Given the description of an element on the screen output the (x, y) to click on. 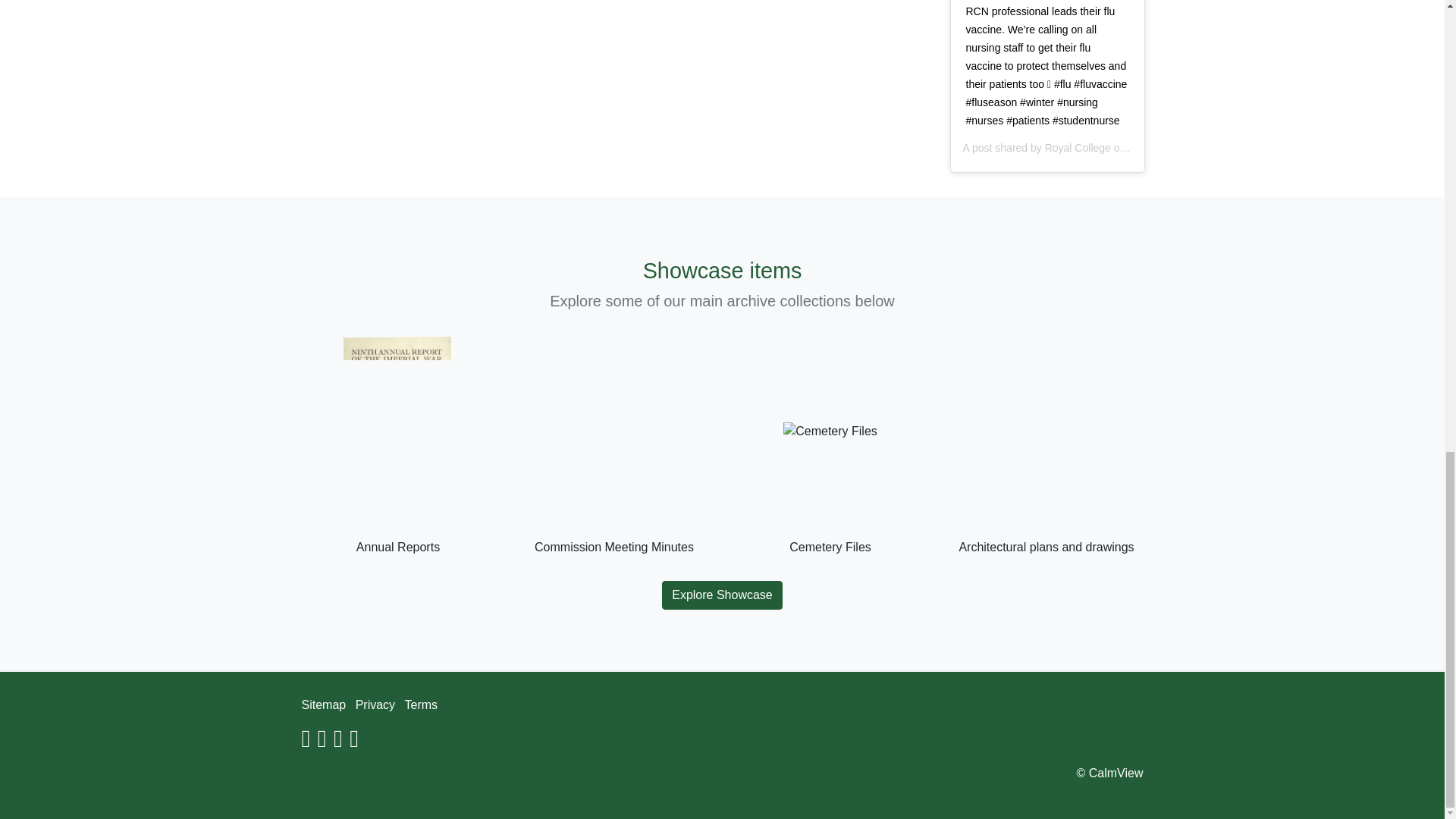
Privacy (374, 704)
Terms (421, 704)
Sitemap (323, 704)
Explore Showcase (722, 594)
Royal College of Nursing (1103, 147)
